Given the description of an element on the screen output the (x, y) to click on. 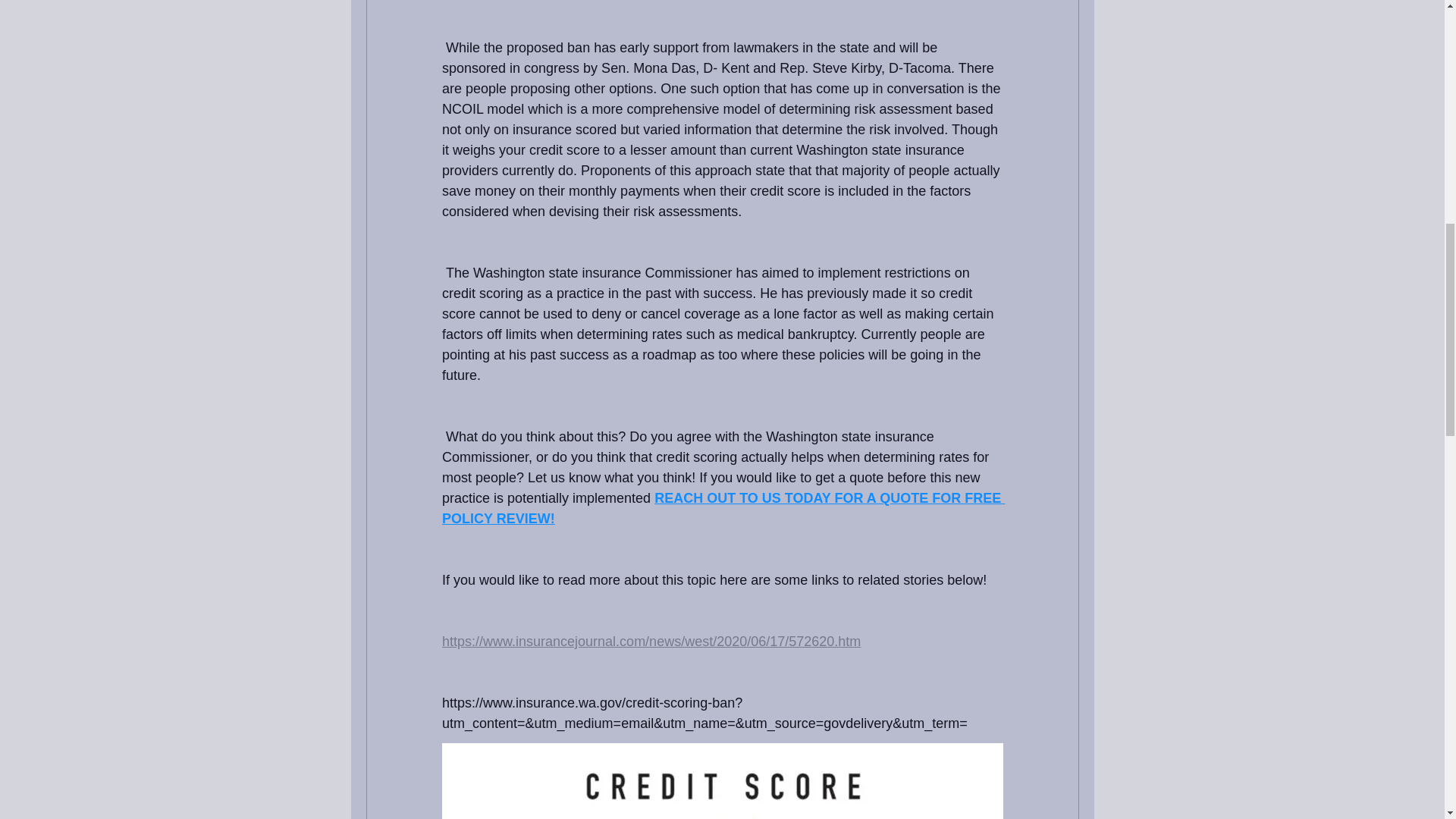
REACH OUT TO US TODAY FOR A QUOTE FOR FREE POLICY REVIEW! (722, 508)
